Given the description of an element on the screen output the (x, y) to click on. 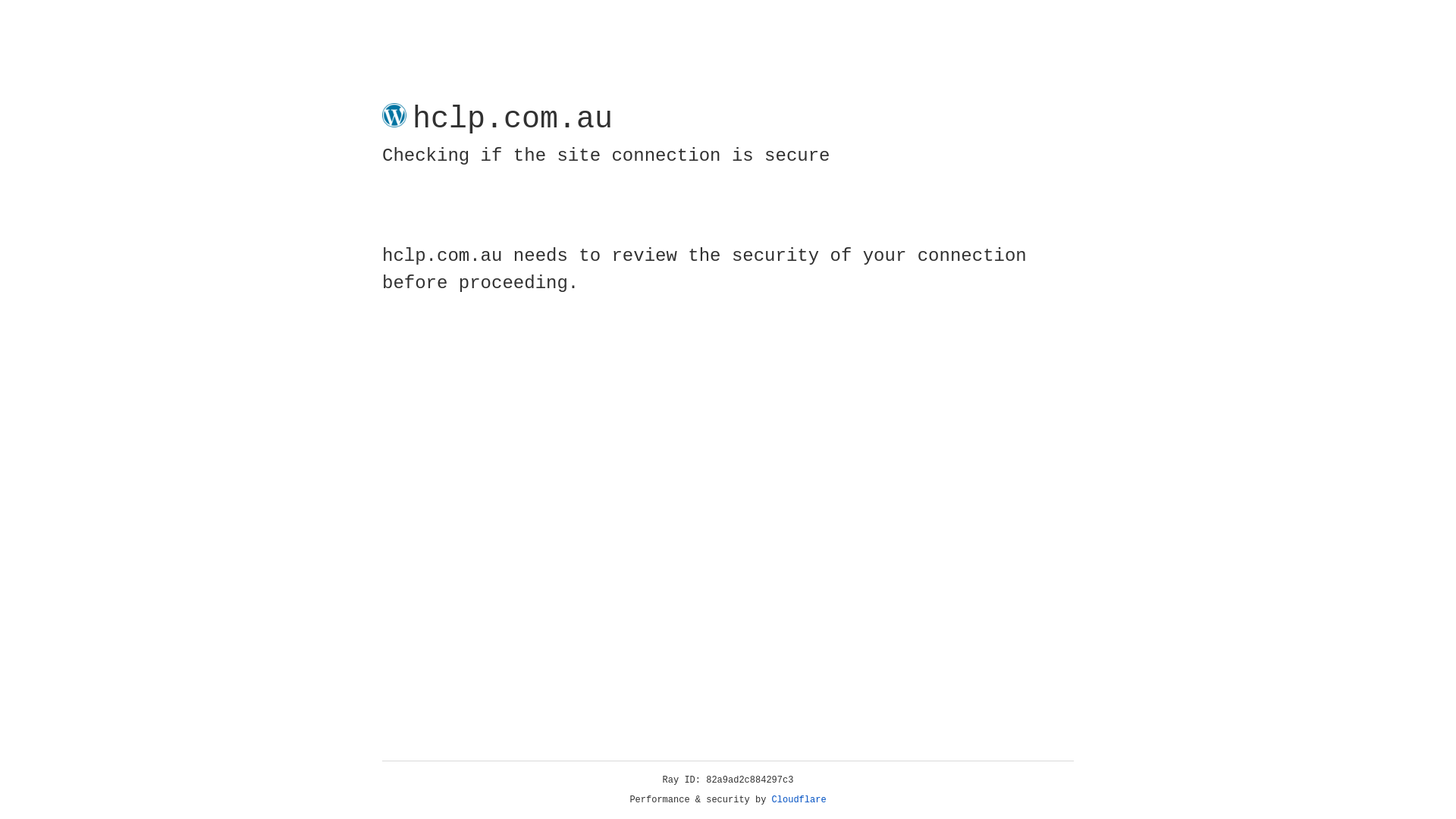
Cloudflare Element type: text (798, 799)
